Given the description of an element on the screen output the (x, y) to click on. 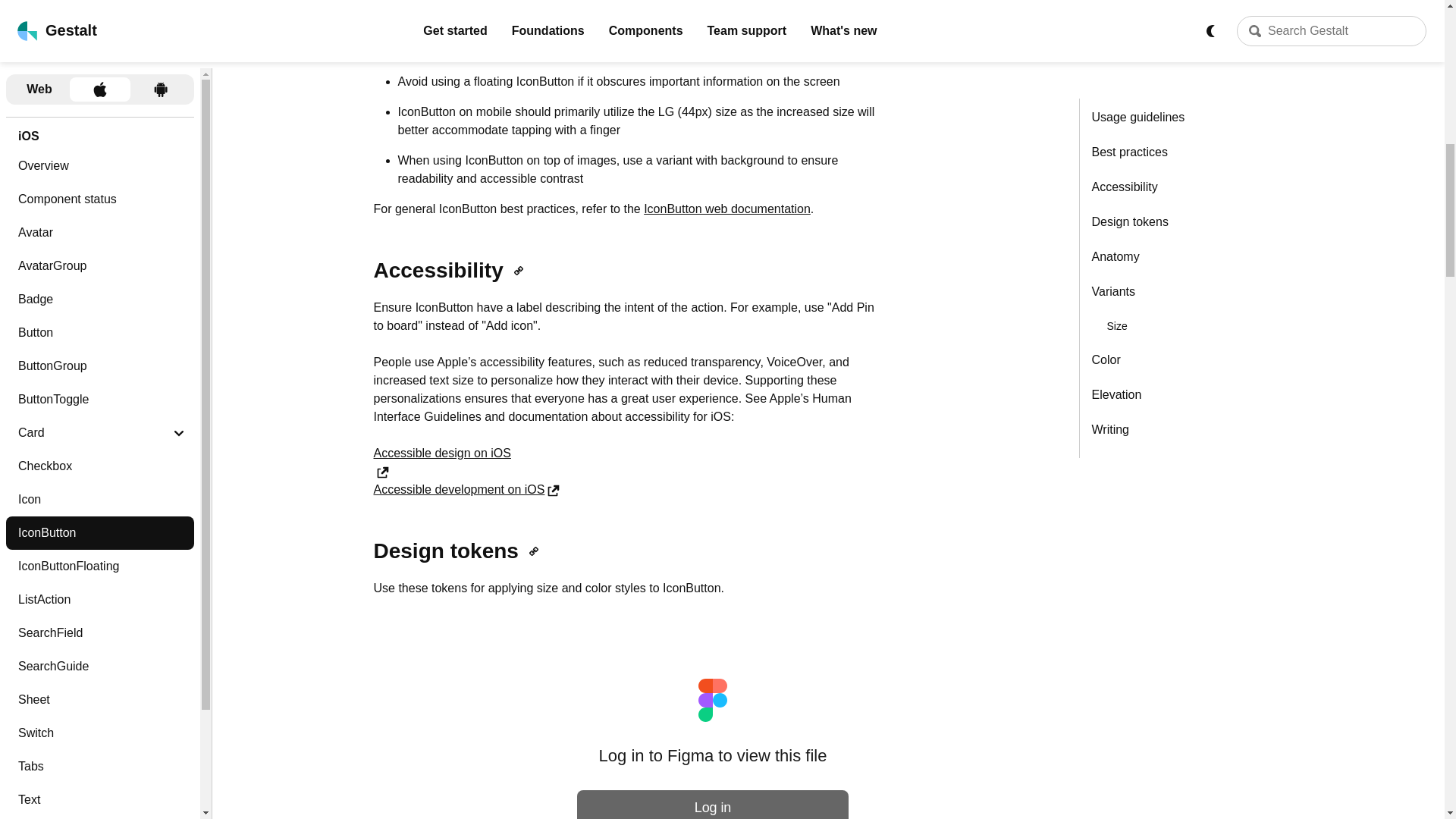
TextArea (99, 15)
, Opens a new tab (381, 472)
, Opens a new tab (553, 490)
Toast (99, 80)
TextField (99, 47)
IconButton web documentation (726, 208)
